Given the description of an element on the screen output the (x, y) to click on. 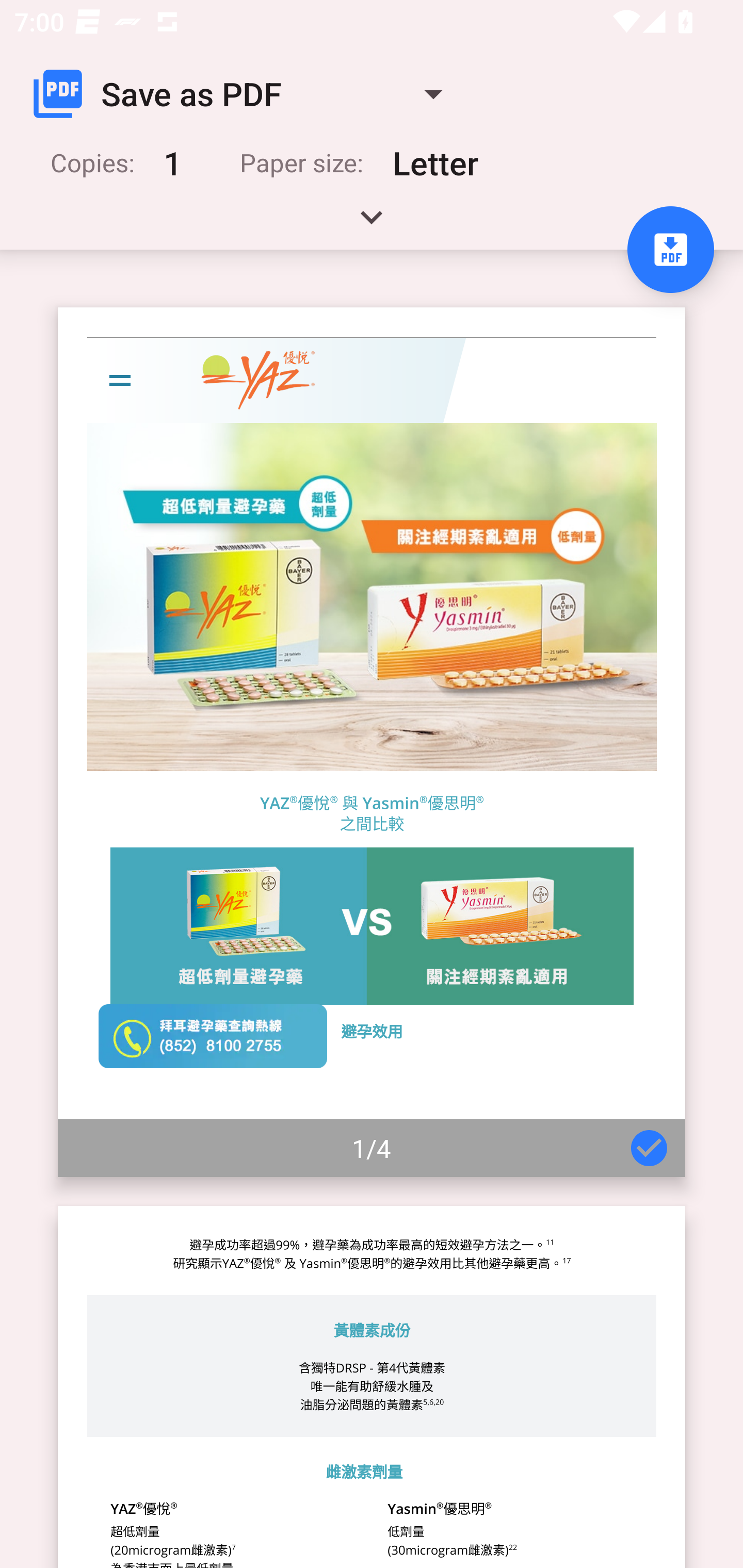
Save as PDF (245, 93)
Expand handle (371, 224)
Save to PDF (670, 249)
Page 1 of 4 1/4 (371, 742)
Page 2 of 4 (371, 1386)
